Given the description of an element on the screen output the (x, y) to click on. 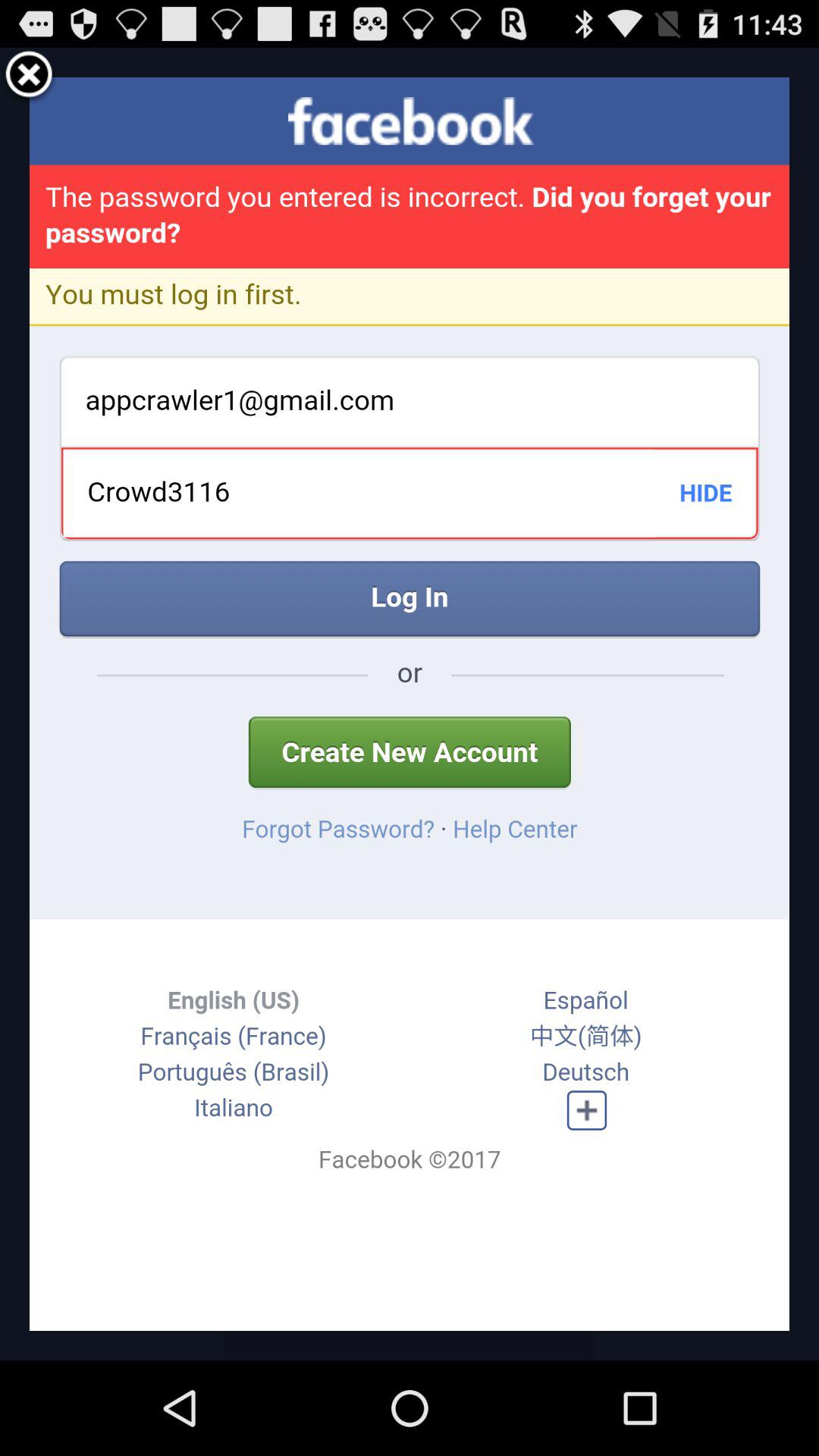
click icon at the top left corner (29, 76)
